Given the description of an element on the screen output the (x, y) to click on. 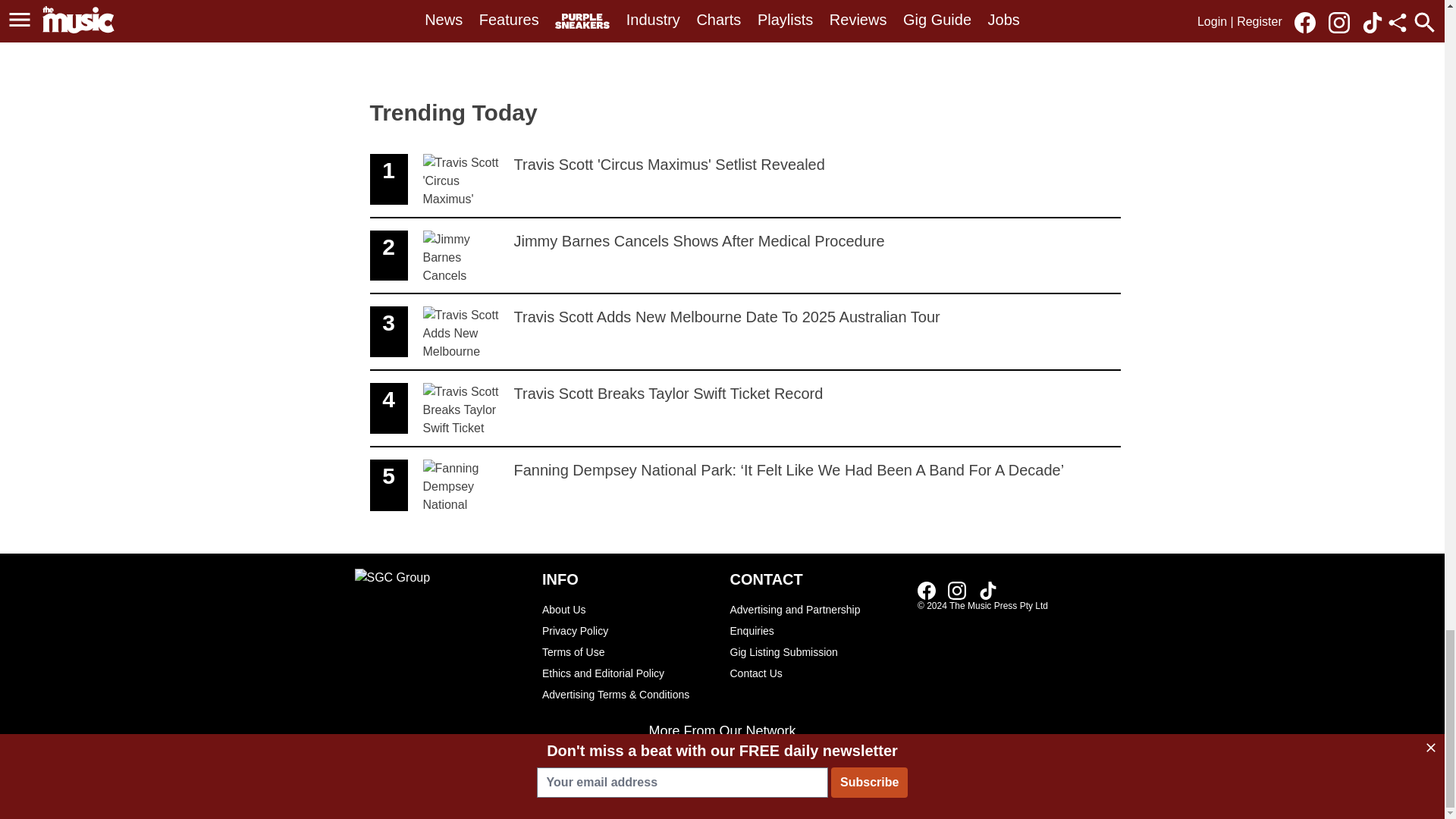
Link to our Facebook (926, 590)
Link to our Instagram (956, 590)
About Us (627, 608)
Contact Us (815, 672)
Privacy Policy (627, 630)
Gig Listing Submission (745, 179)
Ethics and Editorial Policy (815, 651)
Link to our TikTok (627, 672)
Advertising and Partnership Enquiries (987, 590)
Terms of Use (815, 619)
